Given the description of an element on the screen output the (x, y) to click on. 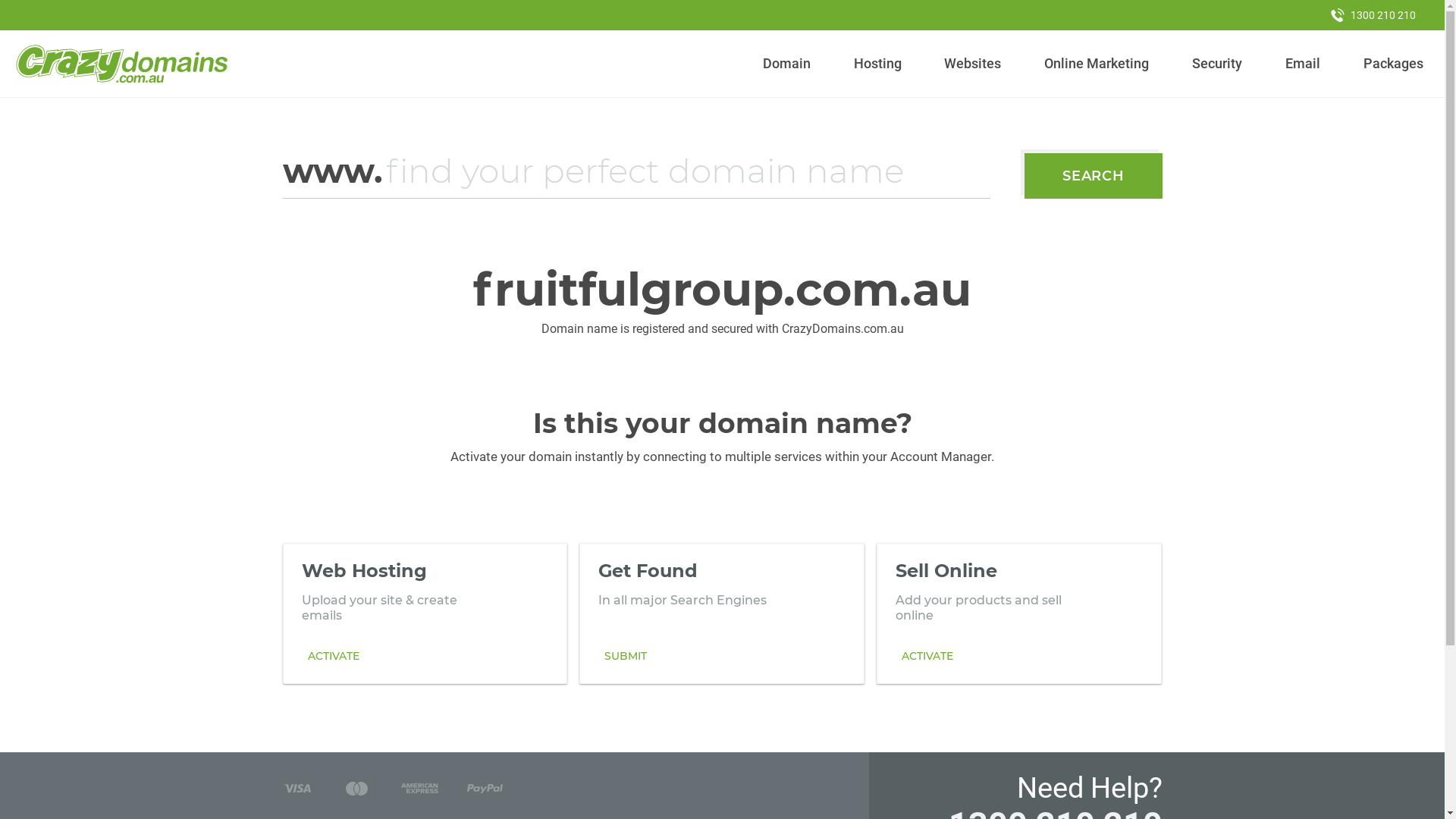
Websites Element type: text (972, 63)
Security Element type: text (1217, 63)
Online Marketing Element type: text (1096, 63)
Web Hosting
Upload your site & create emails
ACTIVATE Element type: text (424, 613)
Sell Online
Add your products and sell online
ACTIVATE Element type: text (1018, 613)
Email Element type: text (1302, 63)
Domain Element type: text (786, 63)
SEARCH Element type: text (1092, 175)
Hosting Element type: text (877, 63)
1300 210 210 Element type: text (1373, 15)
Packages Element type: text (1392, 63)
Get Found
In all major Search Engines
SUBMIT Element type: text (721, 613)
